Given the description of an element on the screen output the (x, y) to click on. 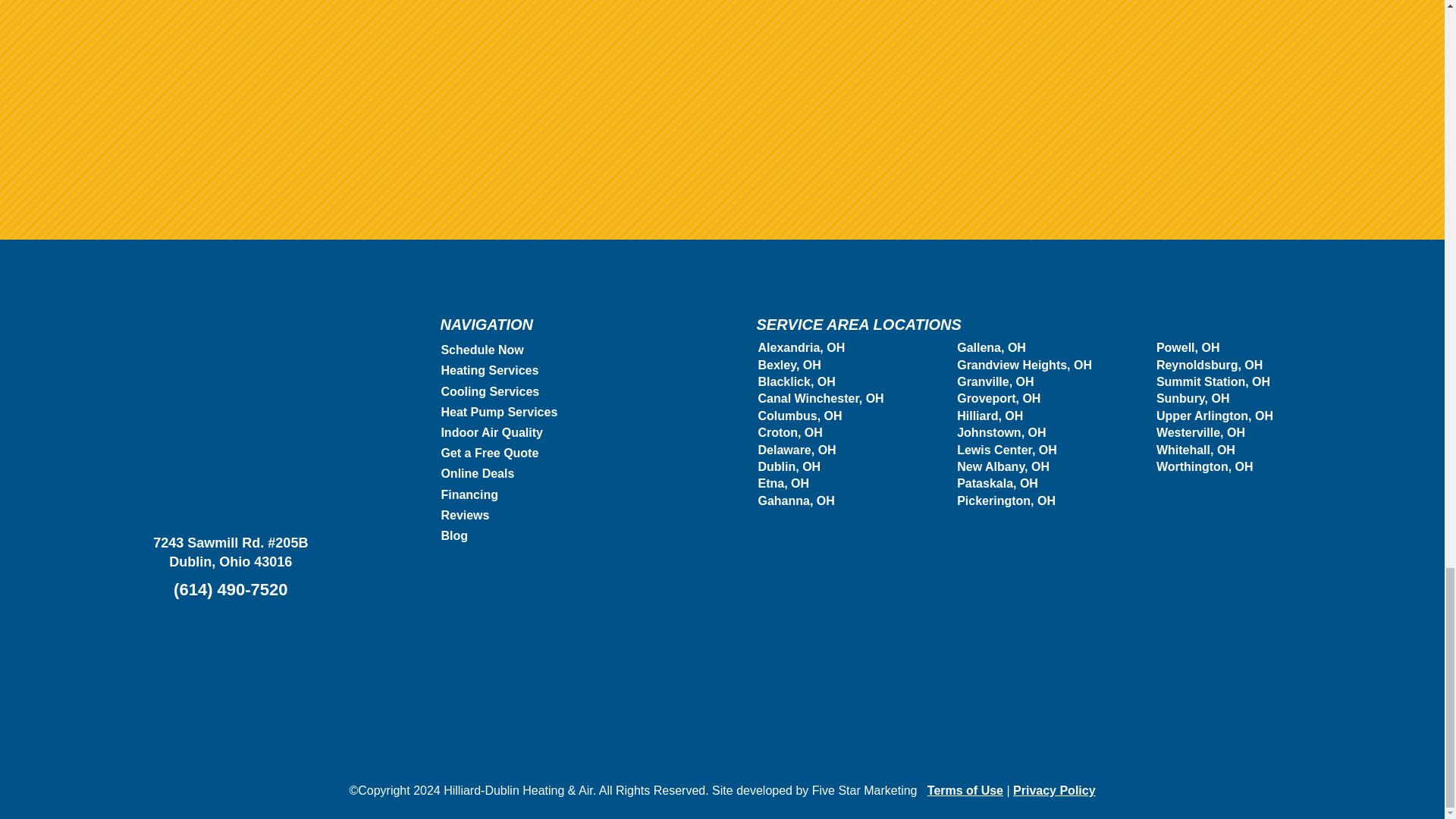
Get a Free Quote (489, 452)
Schedule Now (481, 349)
Cooling Services (489, 391)
Heating Services (489, 369)
Heat Pump Services (499, 411)
Indoor Air Quality (492, 431)
